Given the description of an element on the screen output the (x, y) to click on. 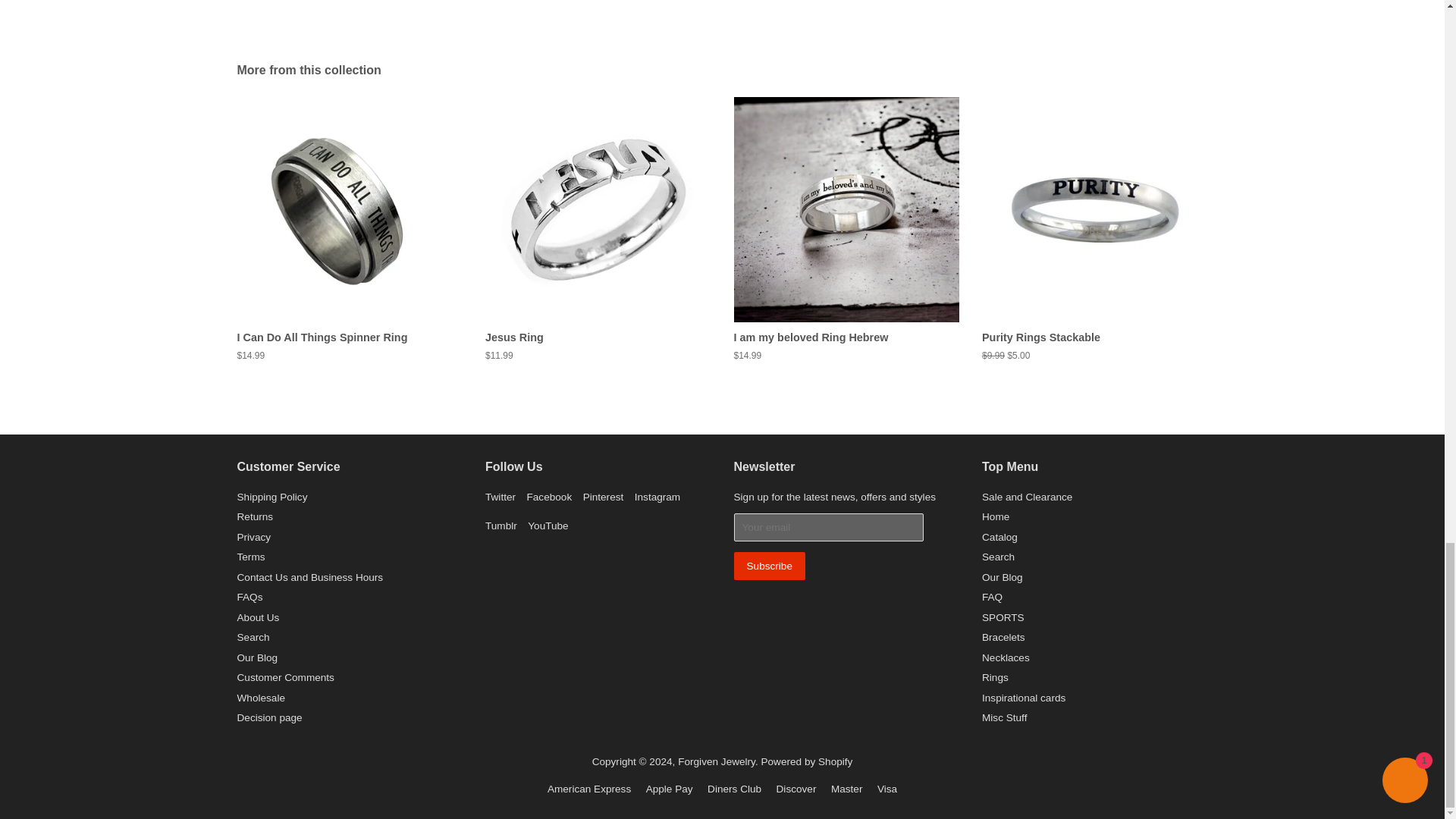
Forgiven Jewelry on YouTube (547, 525)
Subscribe (769, 565)
Forgiven Jewelry on Instagram (656, 496)
Forgiven Jewelry on Pinterest (603, 496)
Forgiven Jewelry on Facebook (548, 496)
Forgiven Jewelry on Twitter (499, 496)
Forgiven Jewelry on Tumblr (500, 525)
